Given the description of an element on the screen output the (x, y) to click on. 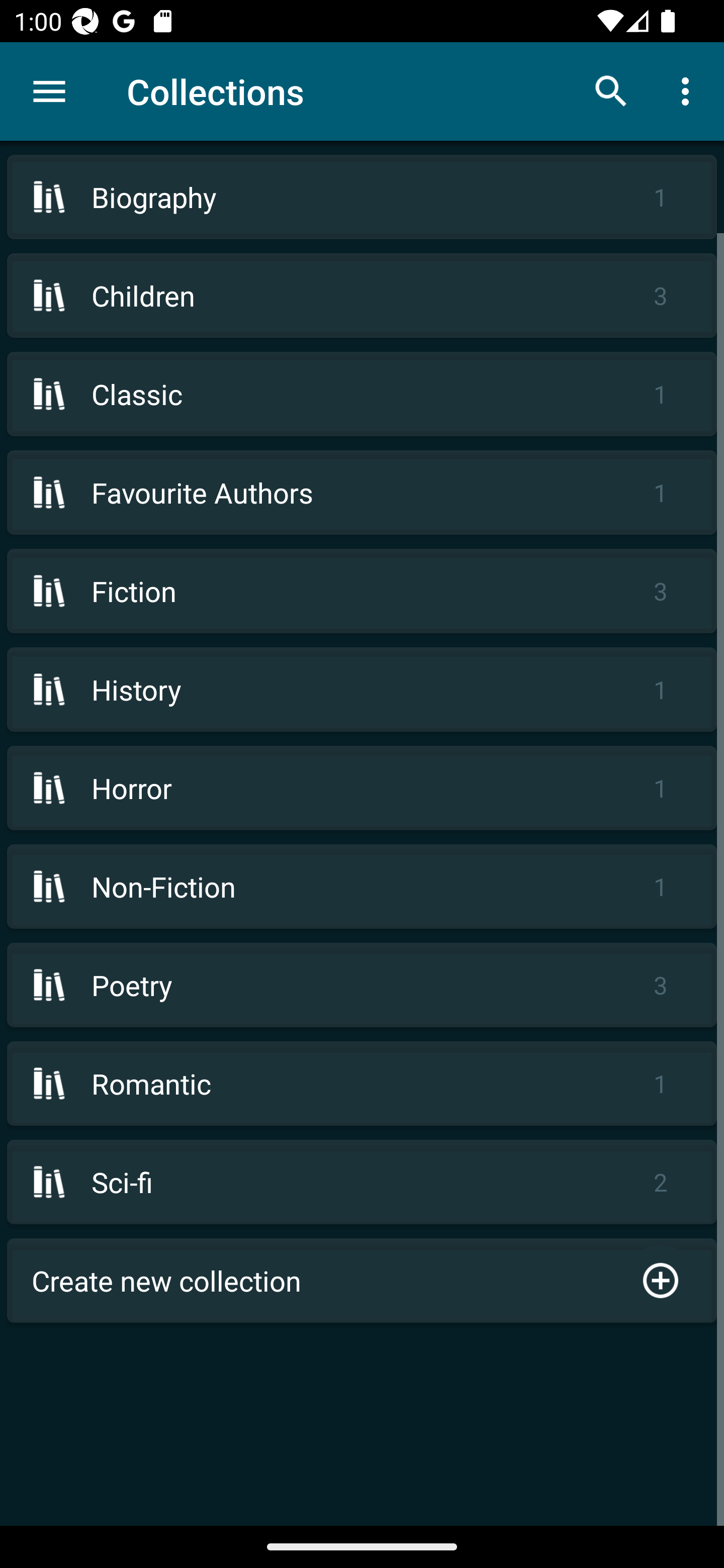
Menu (49, 91)
Search books & documents (611, 90)
More options (688, 90)
Biography 1 (361, 197)
Children 3 (361, 295)
Classic 1 (361, 393)
Favourite Authors 1 (361, 492)
Fiction 3 (361, 590)
History 1 (361, 689)
Horror 1 (361, 787)
Non-Fiction 1 (361, 885)
Poetry 3 (361, 984)
Romantic 1 (361, 1083)
Sci-fi 2 (361, 1181)
Create new collection (361, 1280)
